Given the description of an element on the screen output the (x, y) to click on. 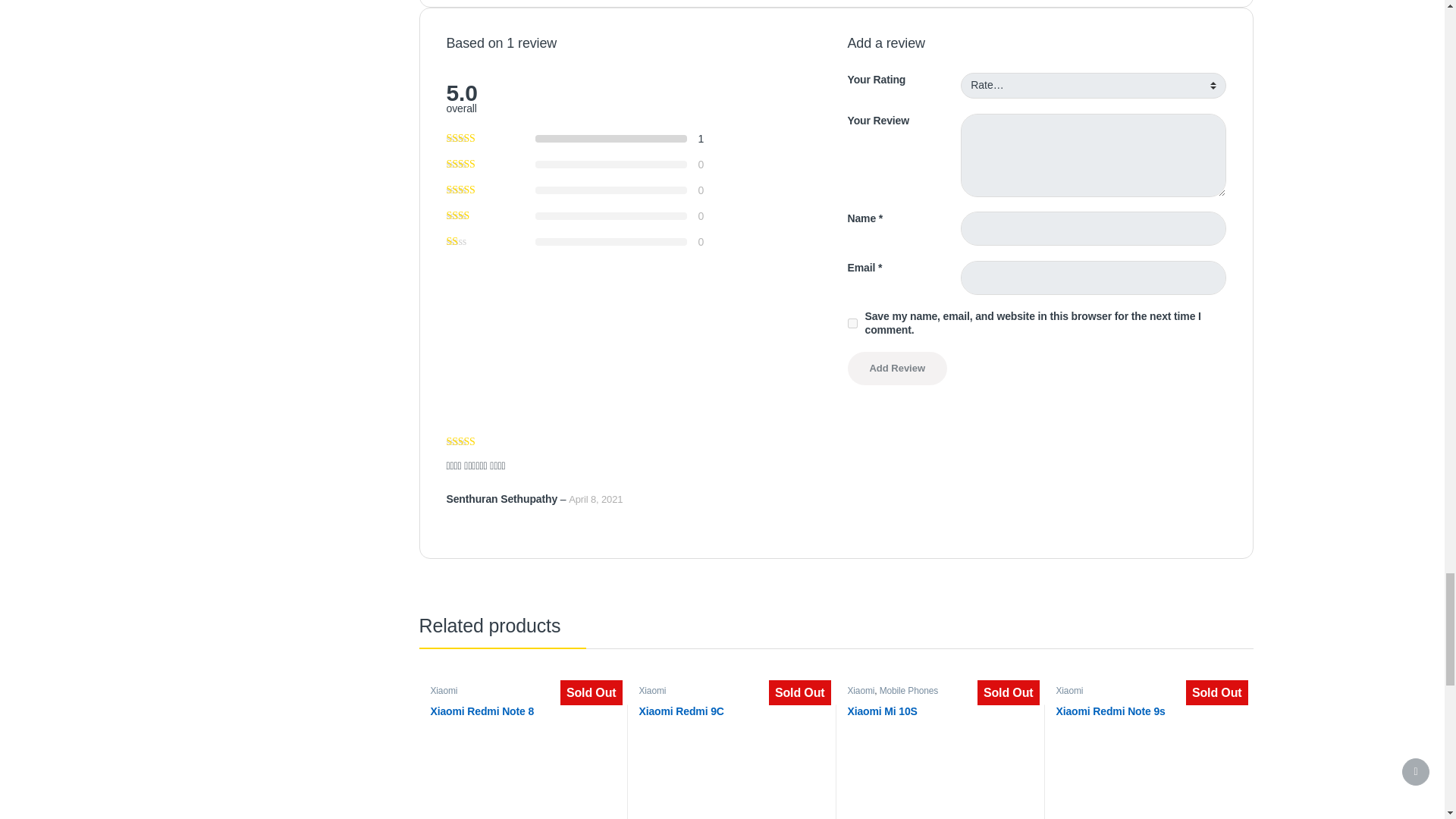
Add Review (897, 368)
yes (852, 323)
